Given the description of an element on the screen output the (x, y) to click on. 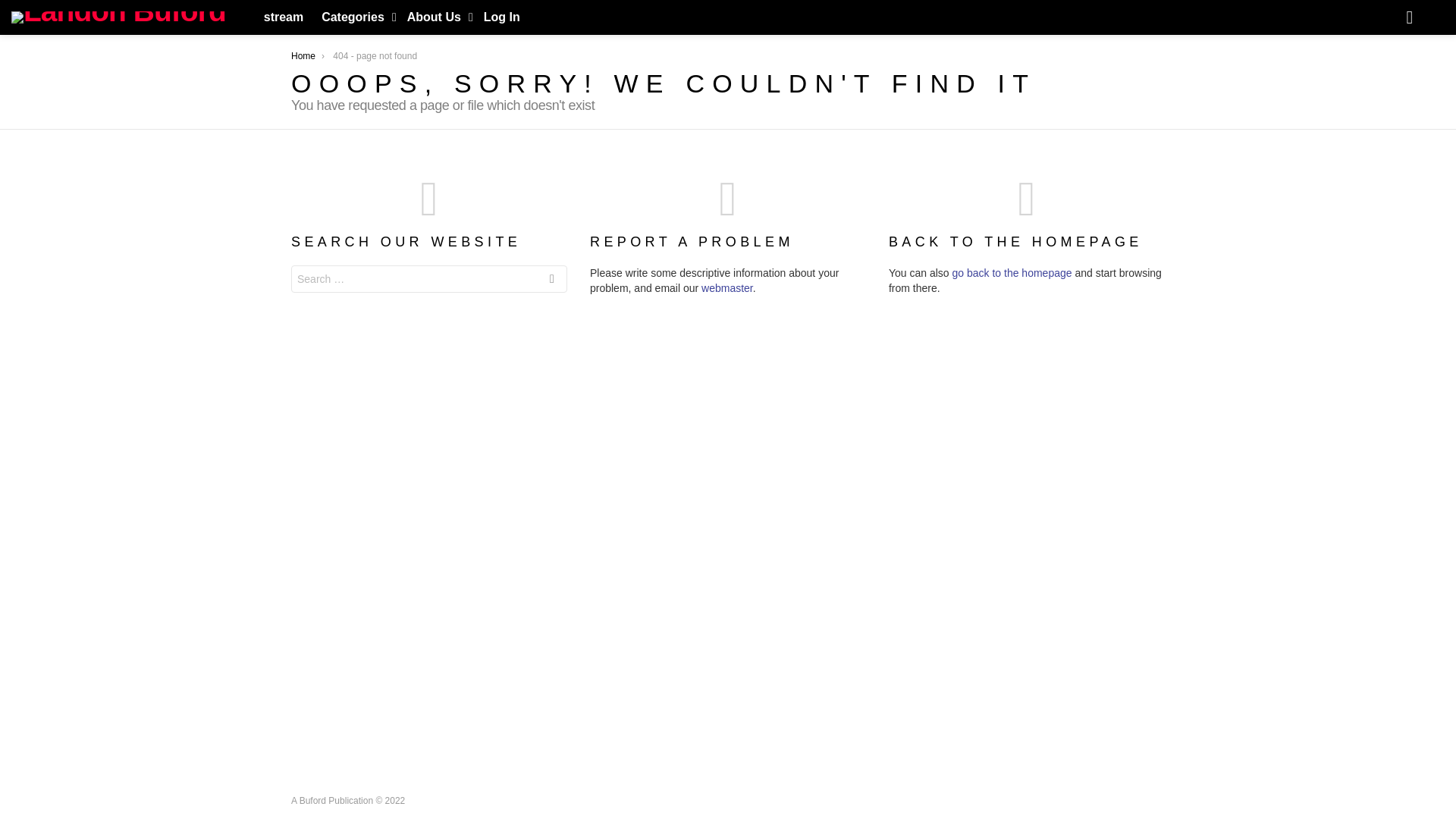
Home (303, 55)
stream (283, 16)
About Us (435, 16)
Categories (355, 16)
go back to the homepage (1011, 272)
Search for: (429, 278)
webmaster (726, 287)
Search (552, 280)
Log In (501, 16)
